Given the description of an element on the screen output the (x, y) to click on. 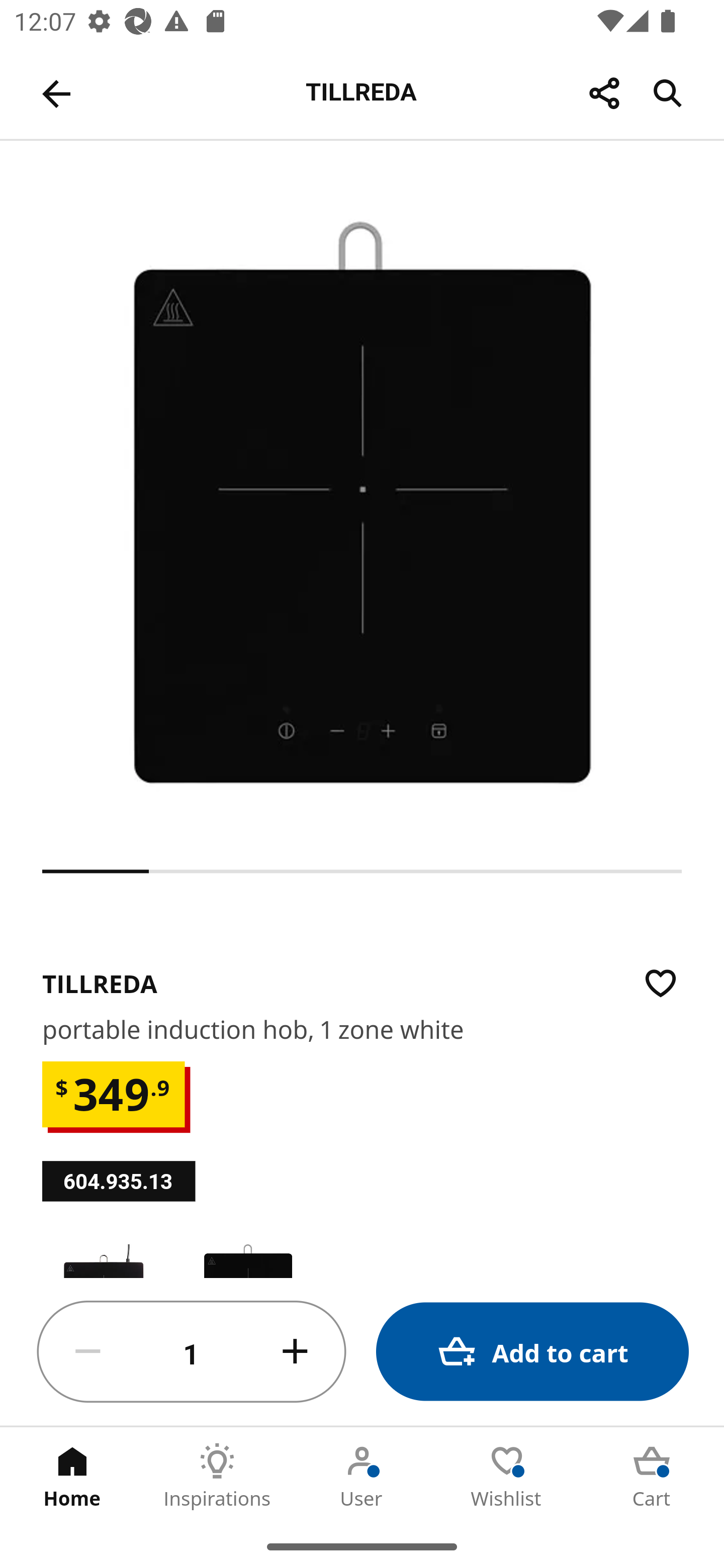
Add to cart (531, 1352)
1 (191, 1352)
Home
Tab 1 of 5 (72, 1476)
Inspirations
Tab 2 of 5 (216, 1476)
User
Tab 3 of 5 (361, 1476)
Wishlist
Tab 4 of 5 (506, 1476)
Cart
Tab 5 of 5 (651, 1476)
